Given the description of an element on the screen output the (x, y) to click on. 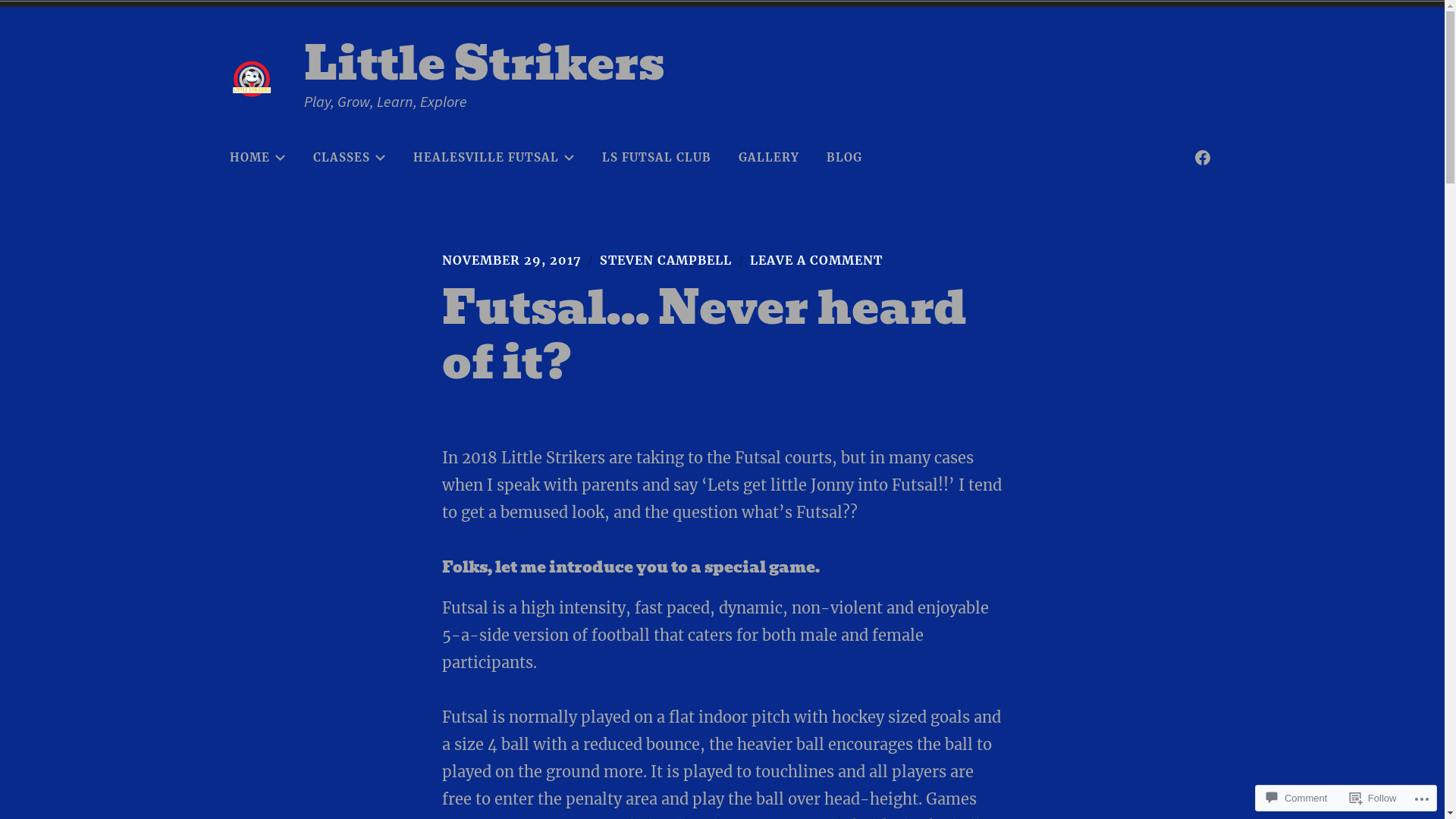
BLOG Element type: text (843, 157)
STEVEN CAMPBELL Element type: text (665, 259)
Comment Element type: text (1296, 797)
GALLERY Element type: text (767, 157)
Follow Element type: text (1372, 797)
LS FUTSAL CLUB Element type: text (655, 157)
Little Strikers Element type: text (483, 63)
CLASSES Element type: text (349, 157)
HEALESVILLE FUTSAL Element type: text (493, 157)
HOME Element type: text (257, 157)
LEAVE A COMMENT Element type: text (815, 259)
